Given the description of an element on the screen output the (x, y) to click on. 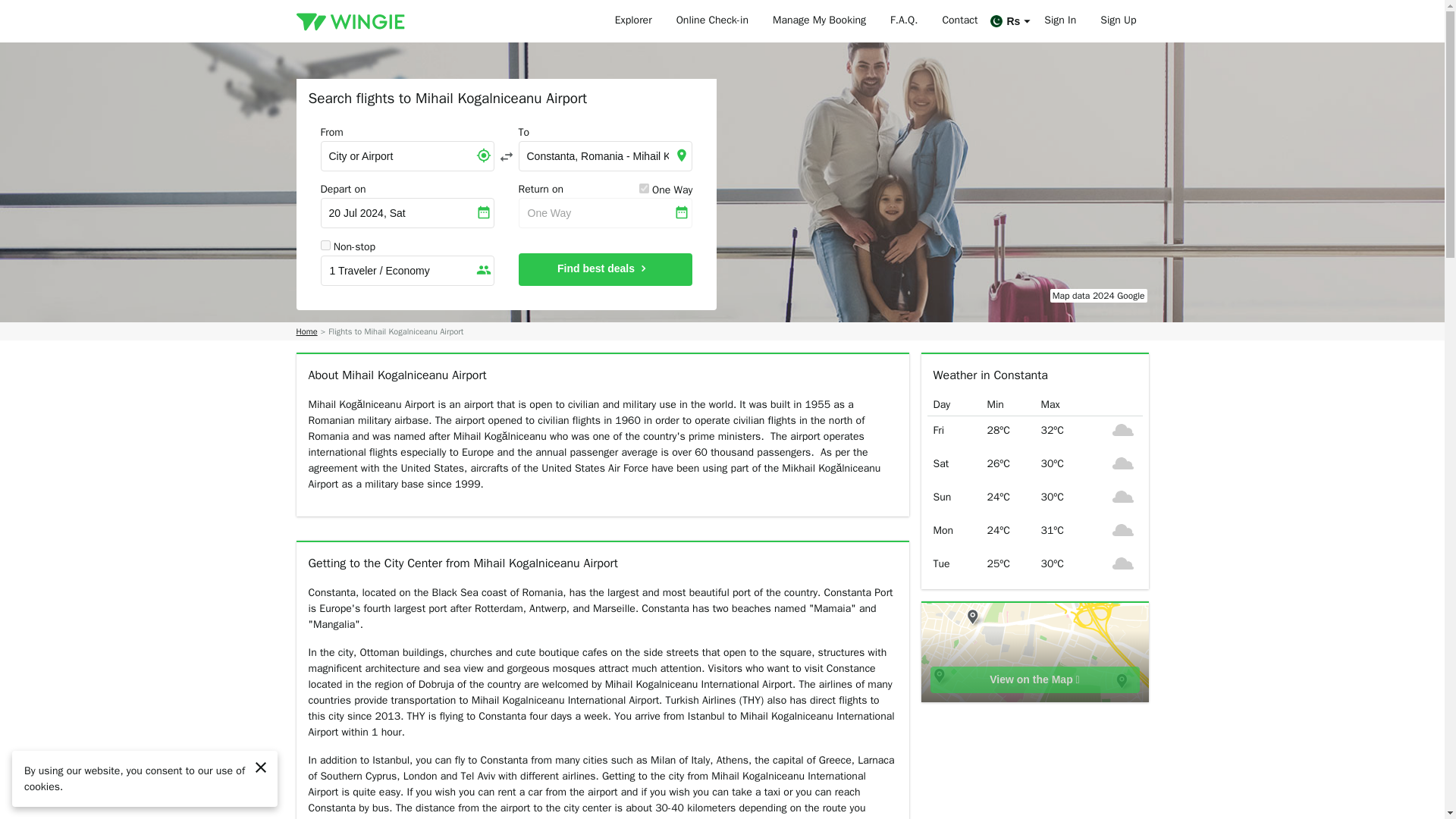
Sign Up (1117, 21)
on (644, 188)
Manage My Booking (818, 21)
One Way (605, 213)
false (325, 245)
Sign In (1059, 21)
Rs (1010, 21)
Find best deals (605, 269)
Constanta, Romania - Mihail Kogalniceanu Airport (605, 155)
Online Check-in (711, 21)
Home (306, 331)
F.A.Q. (903, 21)
View on the Map (1034, 679)
Explorer (632, 21)
Home (306, 331)
